Given the description of an element on the screen output the (x, y) to click on. 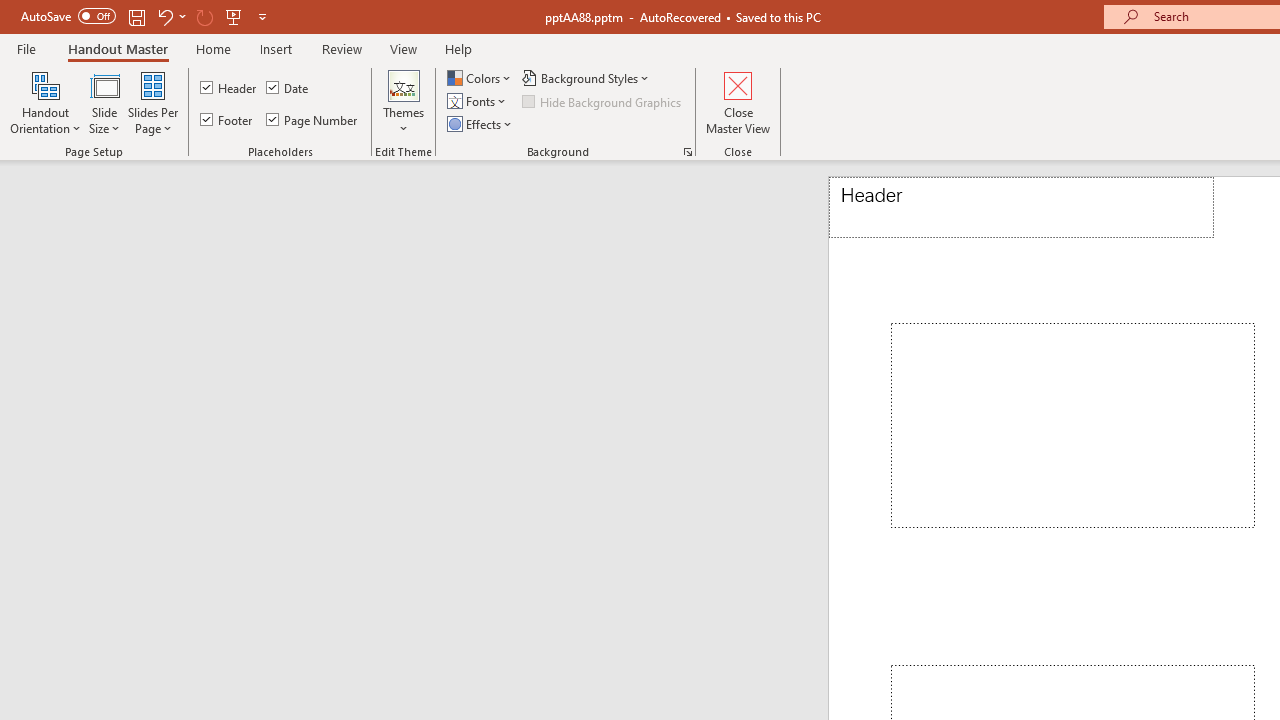
Header (229, 87)
Close Master View (738, 102)
Background Styles (586, 78)
Handout Orientation (45, 102)
